Given the description of an element on the screen output the (x, y) to click on. 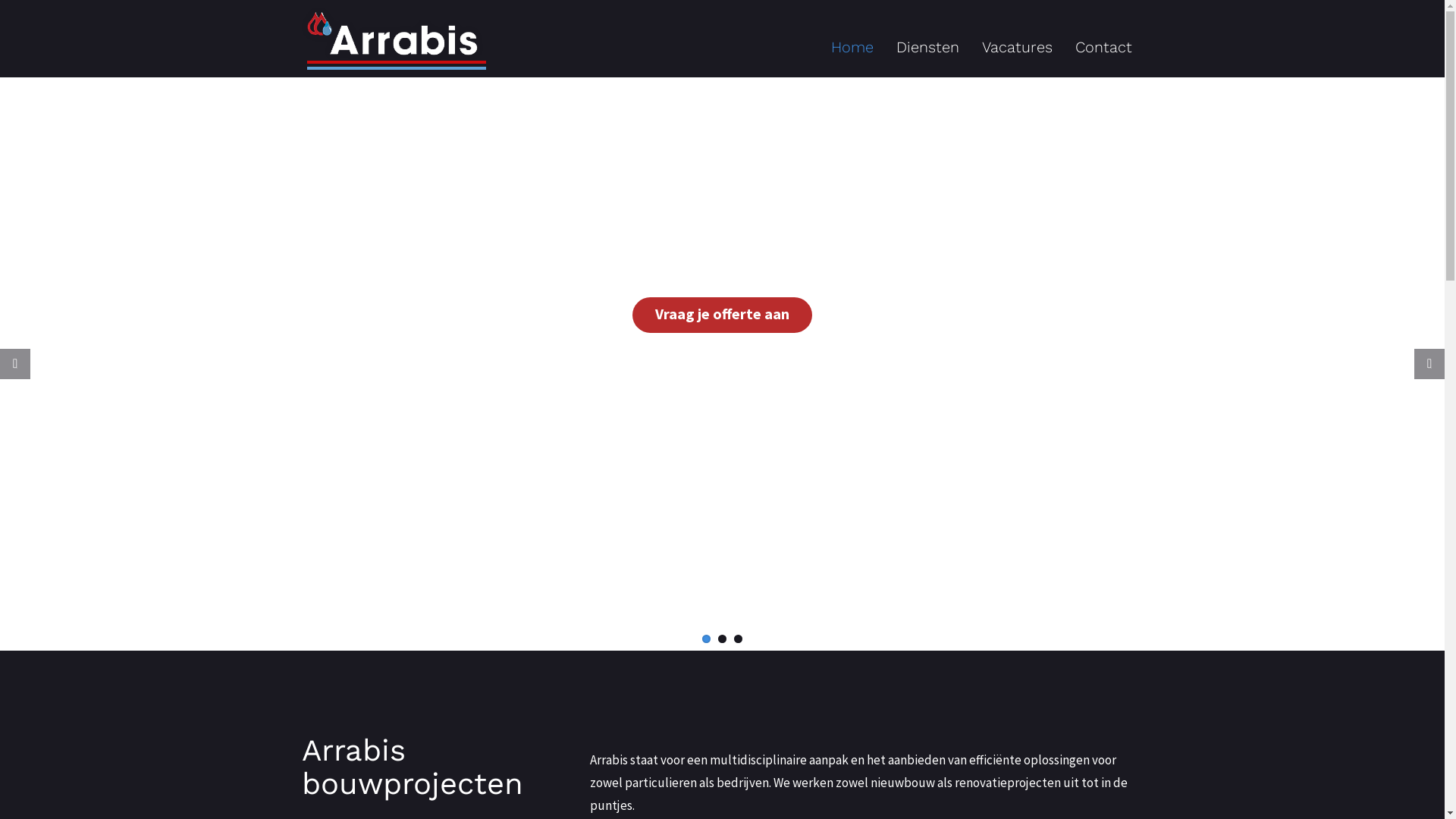
2 Element type: text (722, 638)
Vacatures Element type: text (1016, 46)
1 Element type: text (706, 638)
3 Element type: text (738, 638)
Home Element type: text (851, 46)
Contact Element type: text (1102, 46)
Vraag je offerte aan Element type: text (722, 314)
Diensten Element type: text (926, 46)
